Given the description of an element on the screen output the (x, y) to click on. 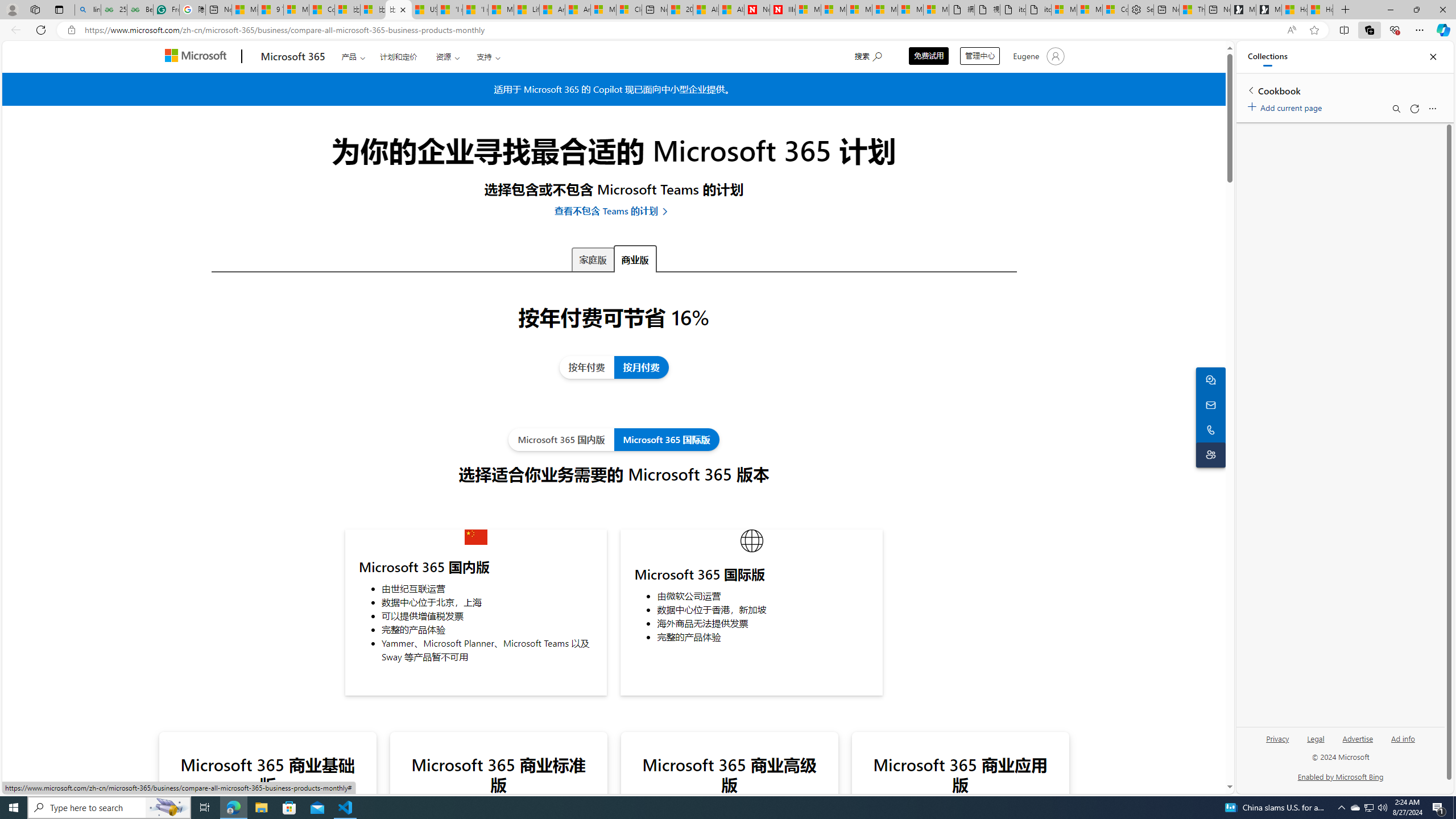
Add current page (1286, 105)
